Given the description of an element on the screen output the (x, y) to click on. 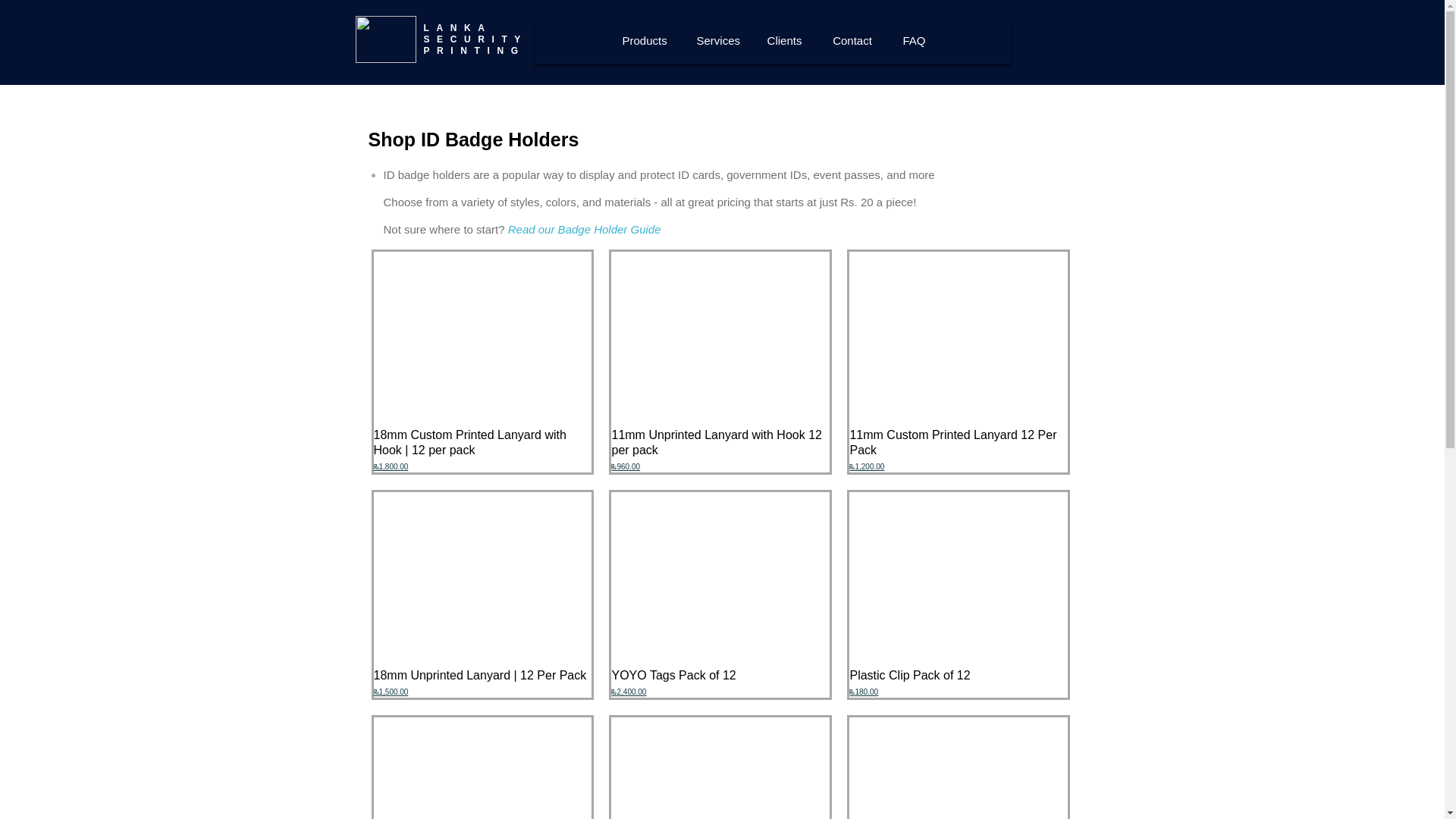
Clients (784, 40)
Contact (851, 40)
logo.gif (384, 39)
Services (715, 40)
Products (643, 40)
Read our Badge Holder Guide (584, 228)
